Given the description of an element on the screen output the (x, y) to click on. 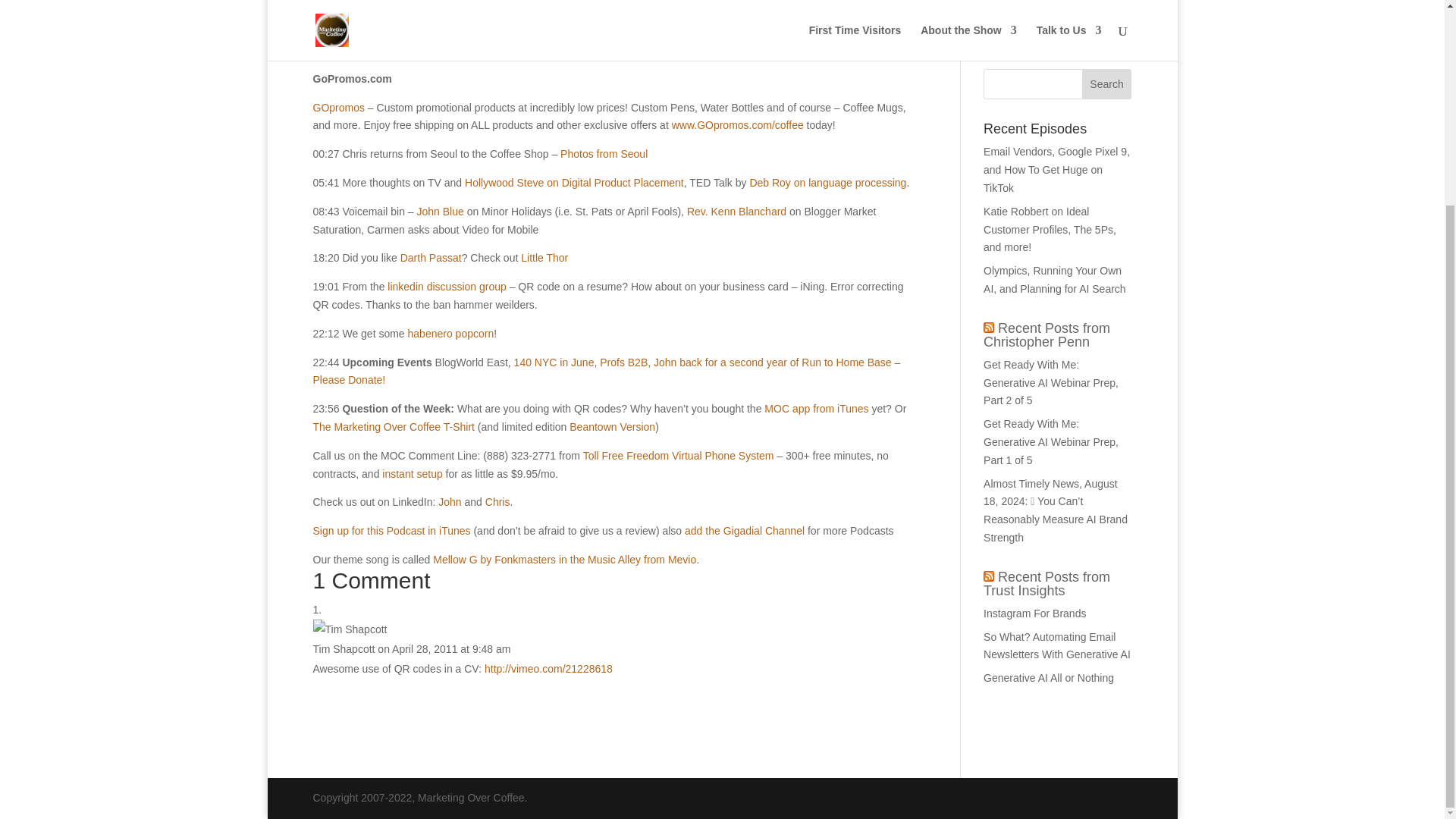
Toll Free Freedom Virtual Phone System (678, 455)
Mellow G by Fonkmasters in the Music Alley from Mevio (563, 559)
Photos from Seoul (603, 153)
instant setup (411, 473)
add the Gigadial Channel (744, 530)
GOpromos (338, 107)
Deb Roy on language processing (827, 182)
habenero popcorn (451, 333)
John Blue (439, 211)
Profs B2B (623, 362)
